Given the description of an element on the screen output the (x, y) to click on. 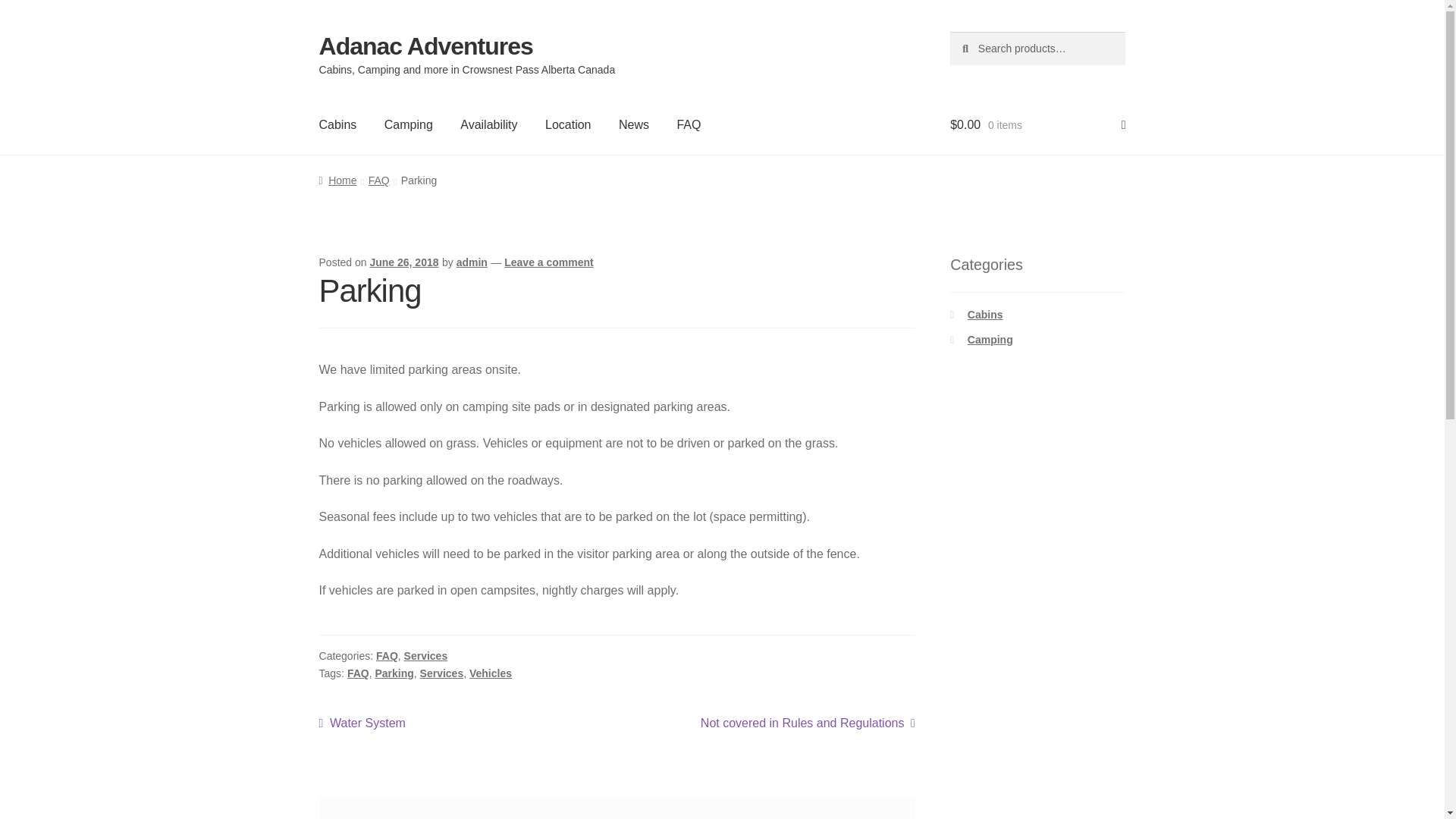
Cabins Element type: text (985, 314)
Vehicles Element type: text (490, 673)
$0.00 0 items Element type: text (1037, 124)
Camping Element type: text (408, 124)
June 26, 2018 Element type: text (403, 262)
FAQ Element type: text (688, 124)
News Element type: text (633, 124)
Camping Element type: text (990, 339)
FAQ Element type: text (378, 180)
Services Element type: text (426, 655)
Cabins Element type: text (338, 124)
Availability Element type: text (488, 124)
FAQ Element type: text (387, 655)
admin Element type: text (471, 262)
Search Element type: text (949, 31)
Parking Element type: text (393, 673)
Services Element type: text (442, 673)
Skip to navigation Element type: text (318, 31)
Leave a comment Element type: text (548, 262)
Adanac Adventures Element type: text (426, 45)
Location Element type: text (568, 124)
Previous post:
Water System Element type: text (362, 723)
Home Element type: text (338, 180)
FAQ Element type: text (358, 673)
Next post:
Not covered in Rules and Regulations Element type: text (807, 723)
